Given the description of an element on the screen output the (x, y) to click on. 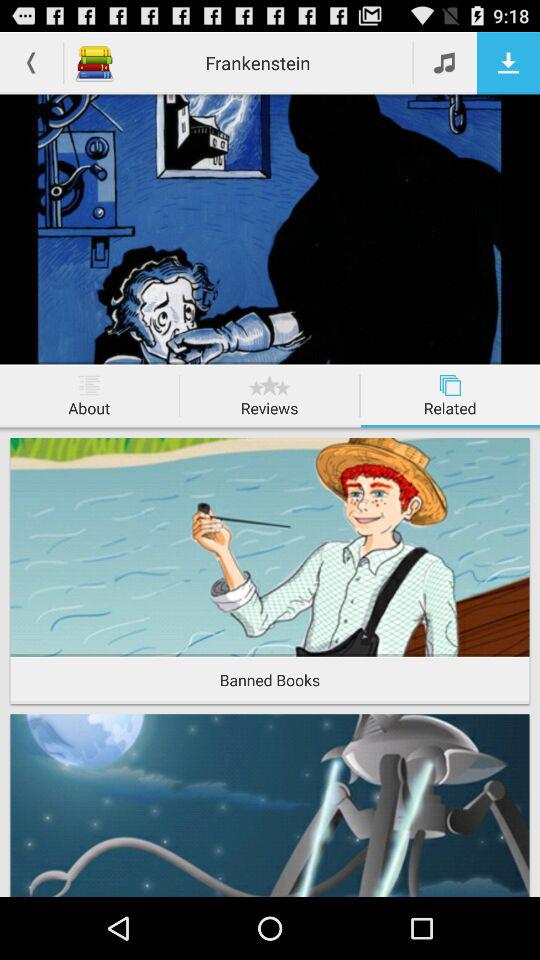
download this page (508, 62)
